Given the description of an element on the screen output the (x, y) to click on. 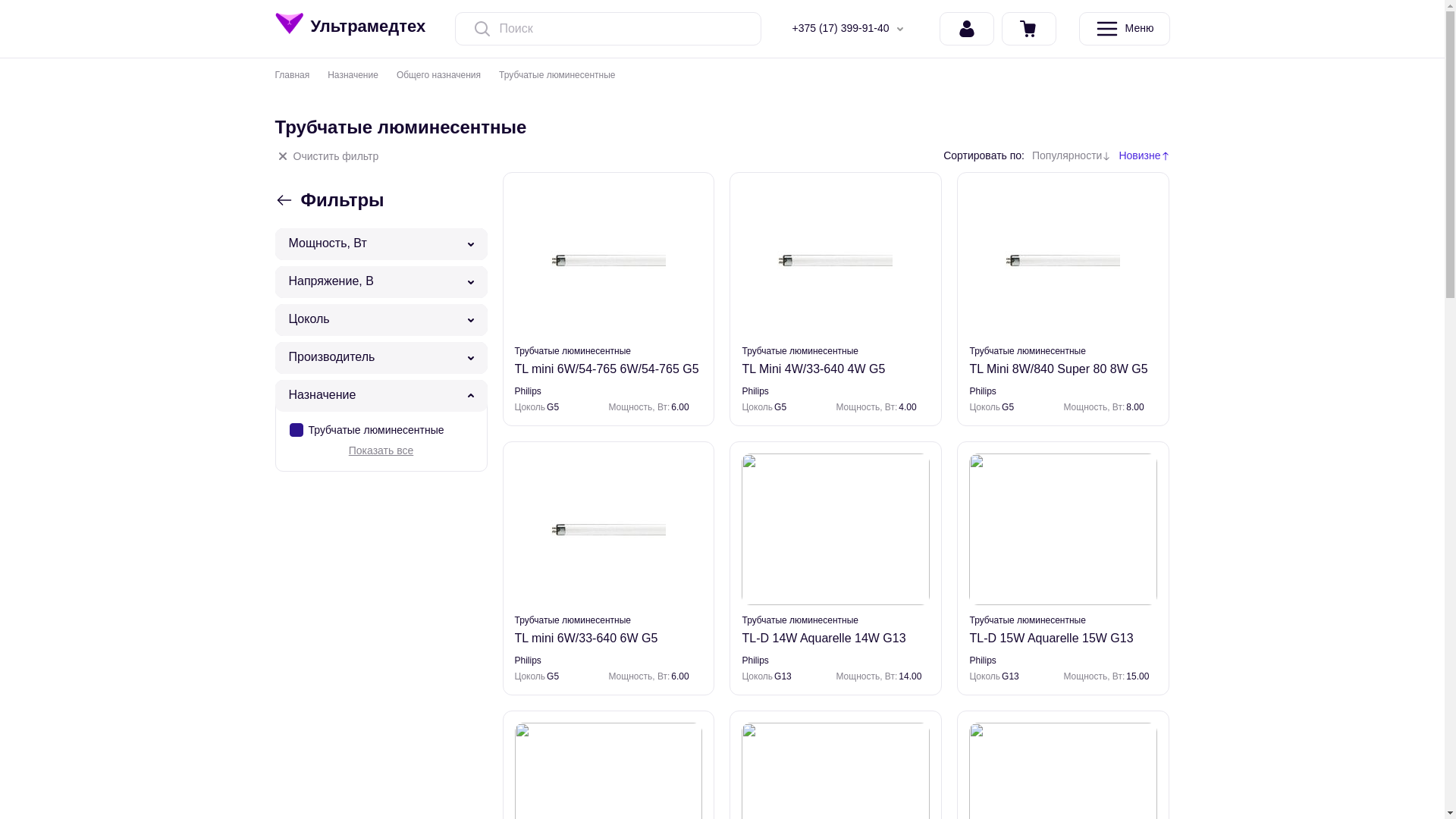
+375 (17) 399-91-40 Element type: text (849, 28)
